Given the description of an element on the screen output the (x, y) to click on. 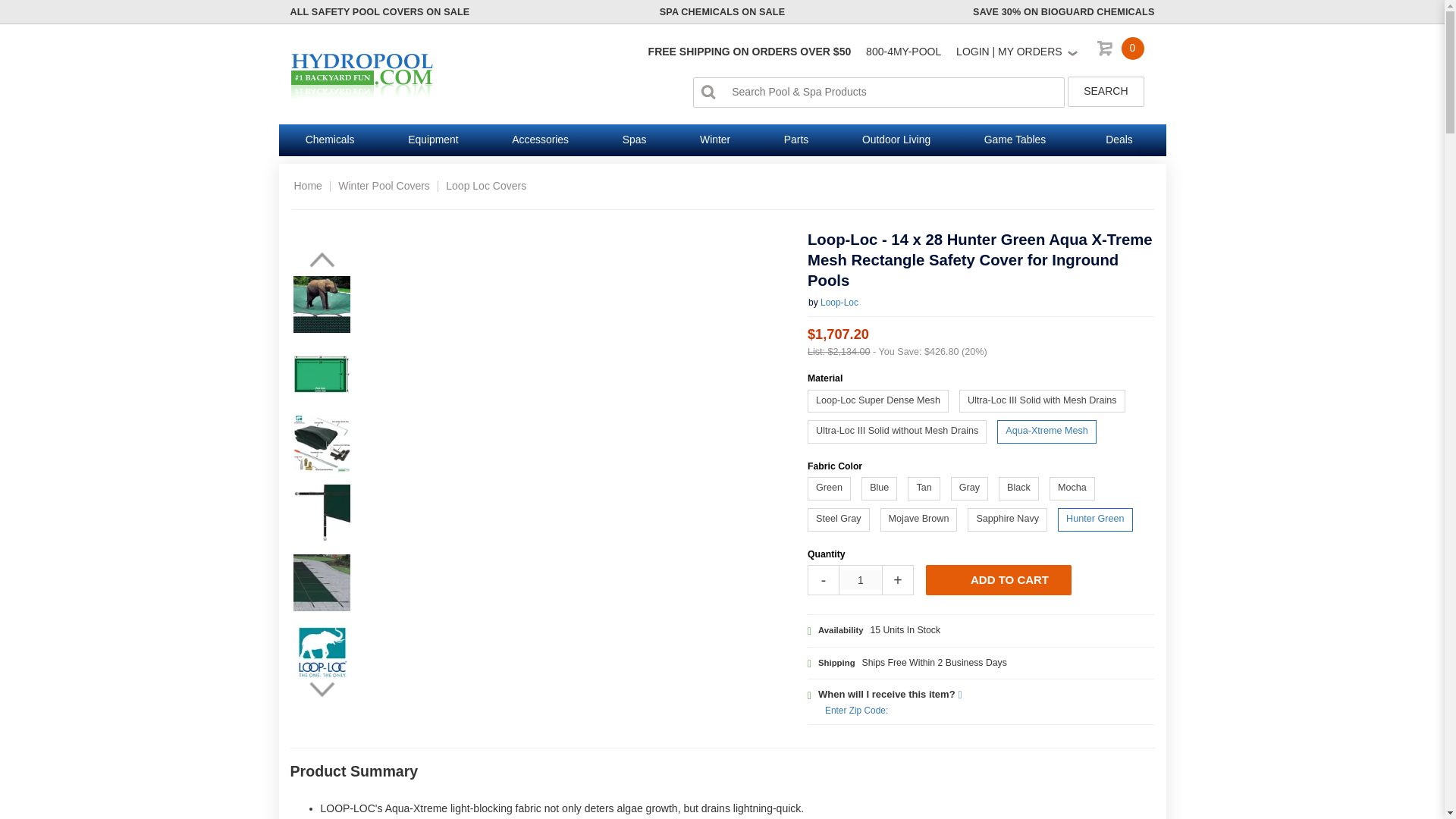
Chemicals (330, 140)
SPA CHEMICALS ON SALE (721, 11)
Click to view cart (1122, 51)
1 (861, 579)
ALL SAFETY POOL COVERS ON SALE (378, 11)
0 (1122, 51)
SEARCH (1104, 91)
